Given the description of an element on the screen output the (x, y) to click on. 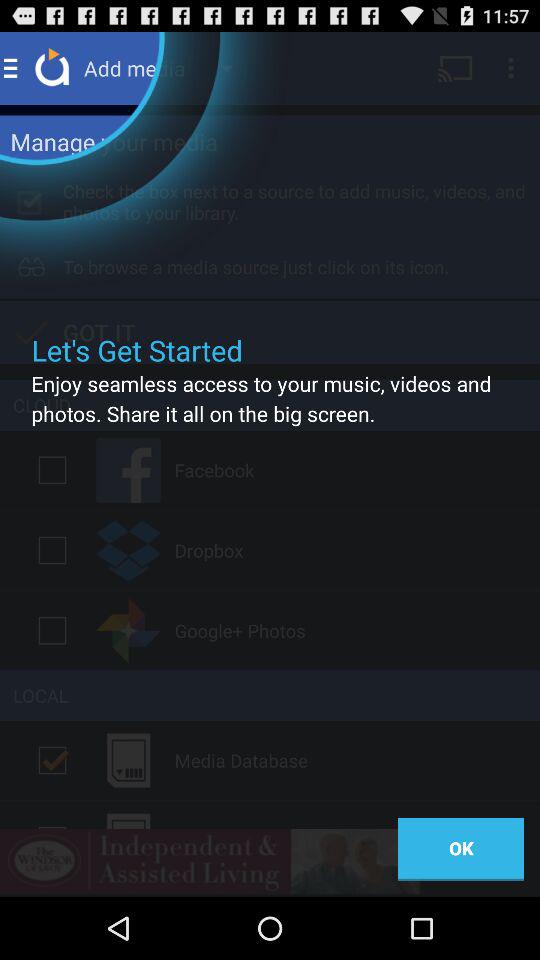
selection check box (52, 469)
